Given the description of an element on the screen output the (x, y) to click on. 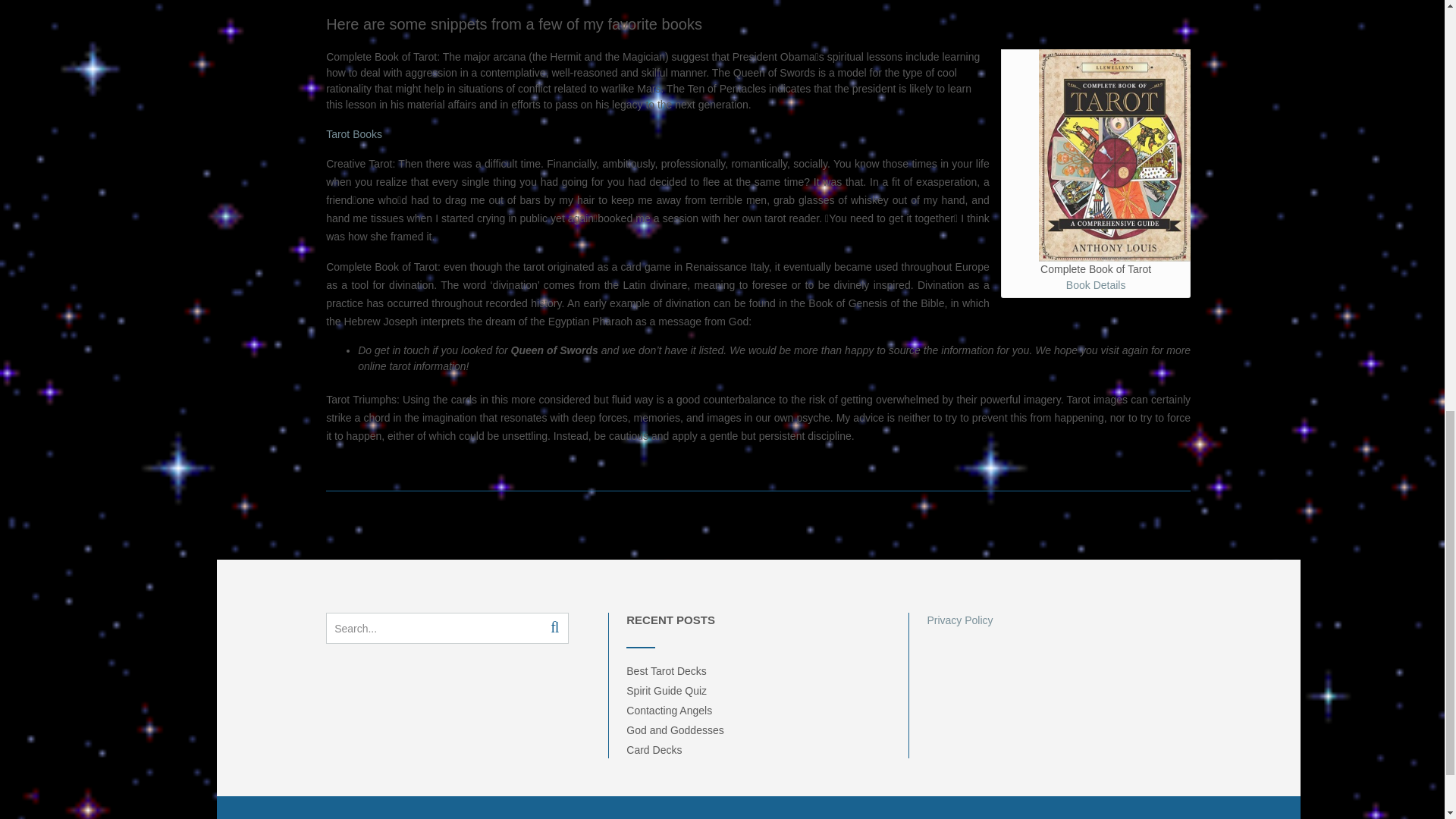
Search for: (430, 627)
